Given the description of an element on the screen output the (x, y) to click on. 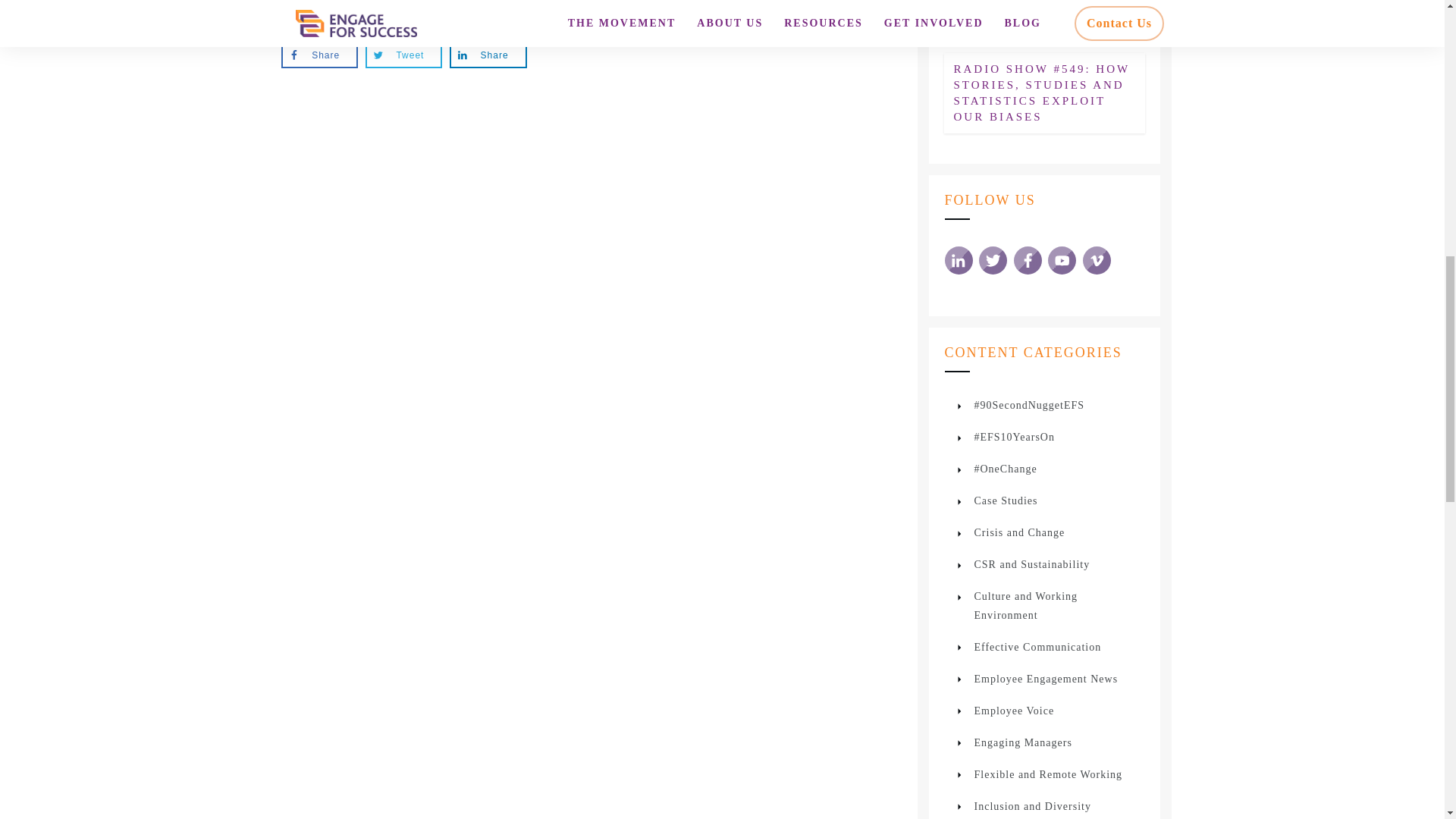
Crisis and Change (1019, 532)
Employee Voice (1014, 710)
Share (487, 55)
Tweet (403, 55)
Share (319, 55)
Culture and Working Environment (1059, 605)
Employee Engagement News (1046, 678)
Case Studies (1005, 500)
CSR and Sustainability (1031, 564)
Effective Communication (1037, 647)
Engaging Managers (1022, 742)
